Given the description of an element on the screen output the (x, y) to click on. 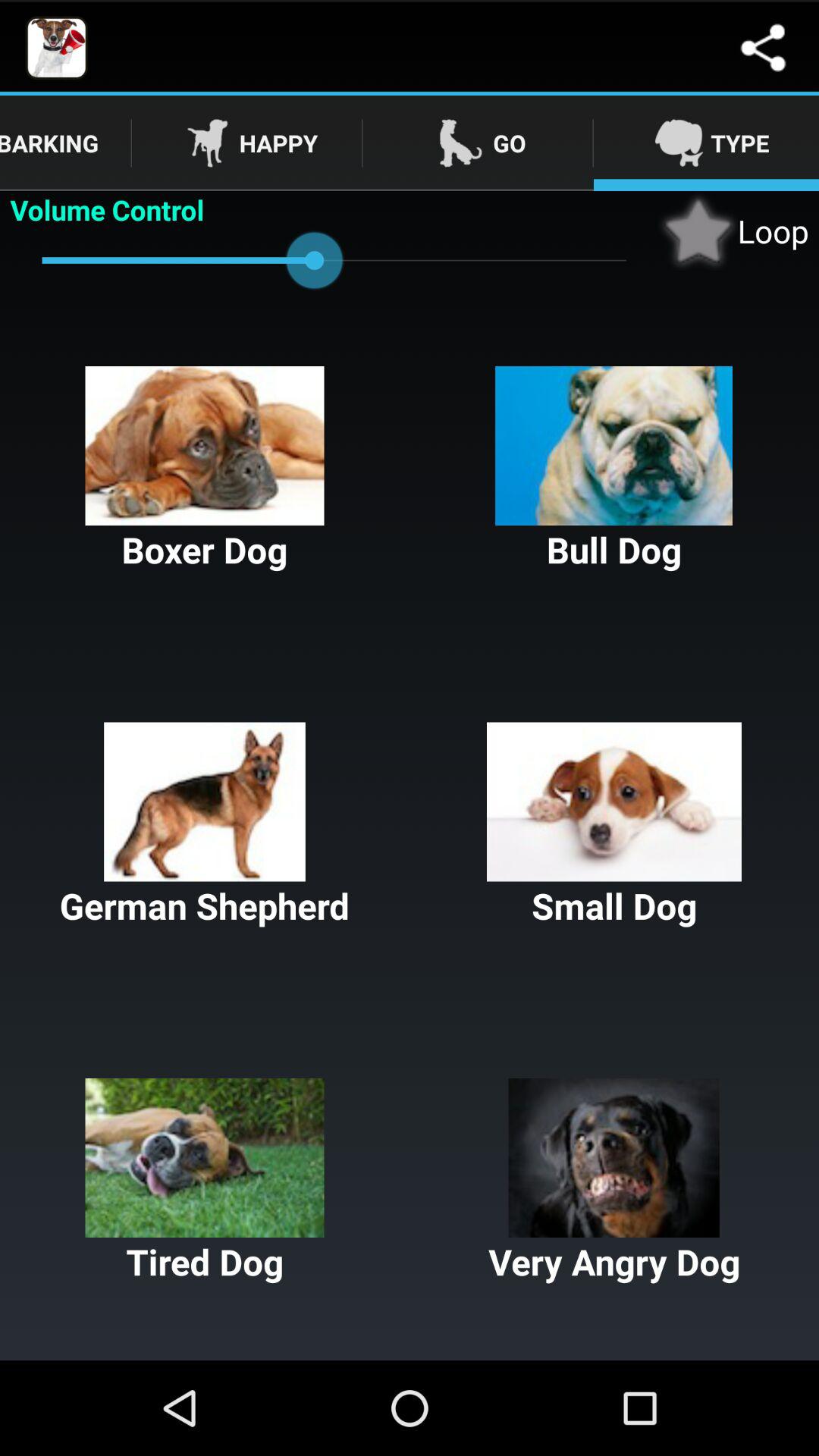
open app to the right of volume control (733, 230)
